Given the description of an element on the screen output the (x, y) to click on. 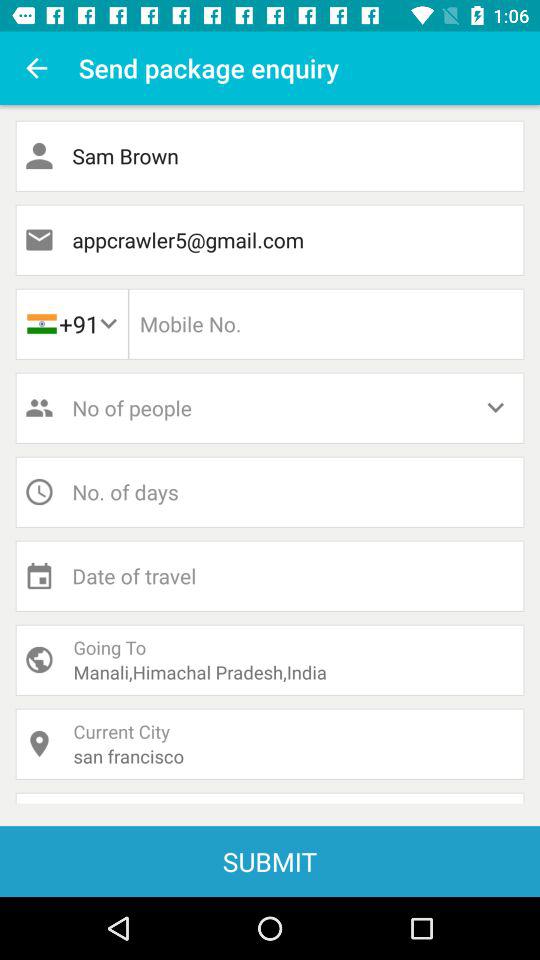
turn on the icon above the appcrawler5@gmail.com item (269, 155)
